Given the description of an element on the screen output the (x, y) to click on. 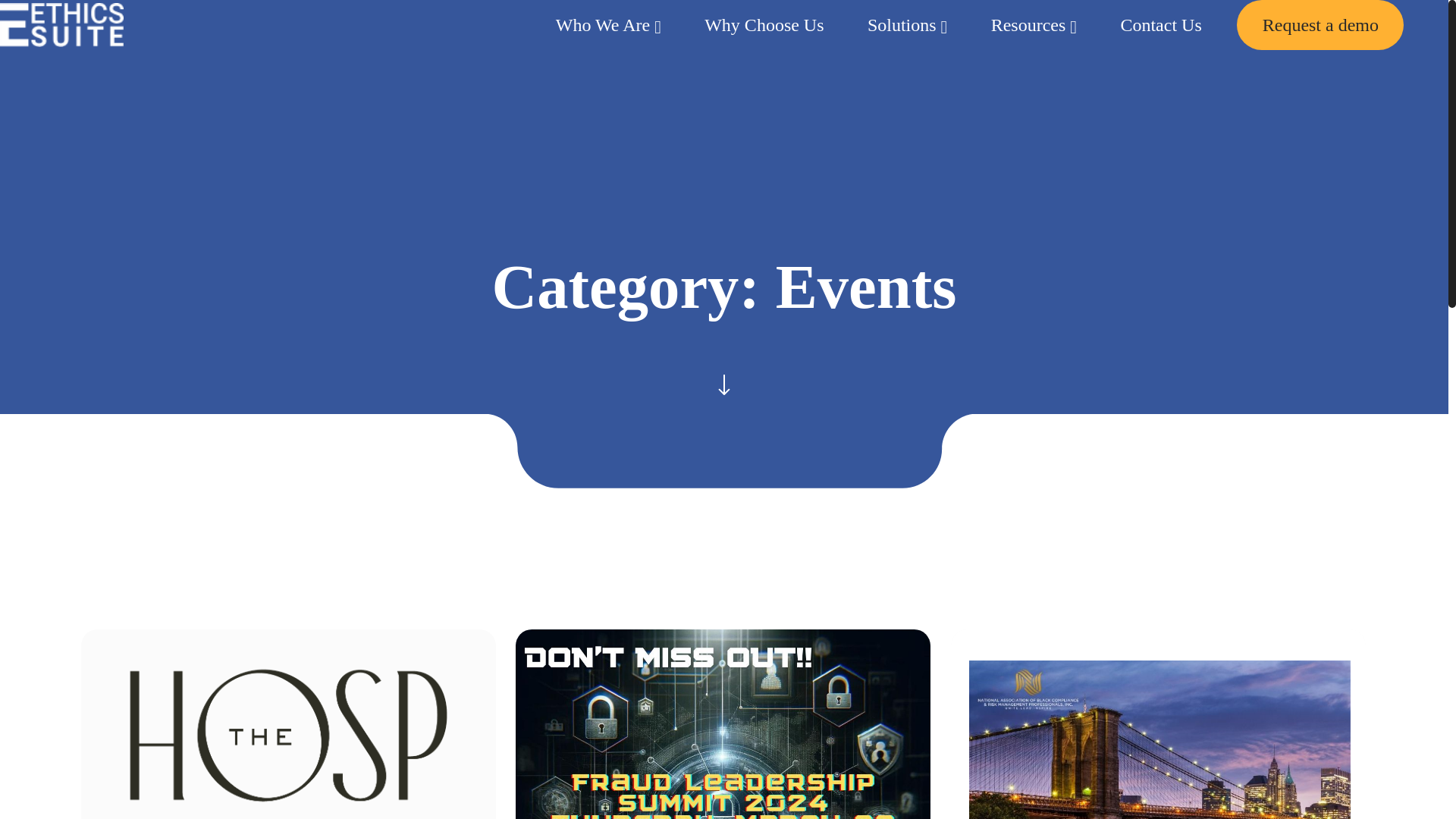
Solutions (901, 25)
Who We Are (602, 25)
Request a demo (1319, 24)
Contact Us (1160, 25)
Proud Sponsor of the NABCRMP Women Leaders in GRC 2024! (1157, 724)
Resources (1028, 25)
Why Choose Us (764, 25)
